Given the description of an element on the screen output the (x, y) to click on. 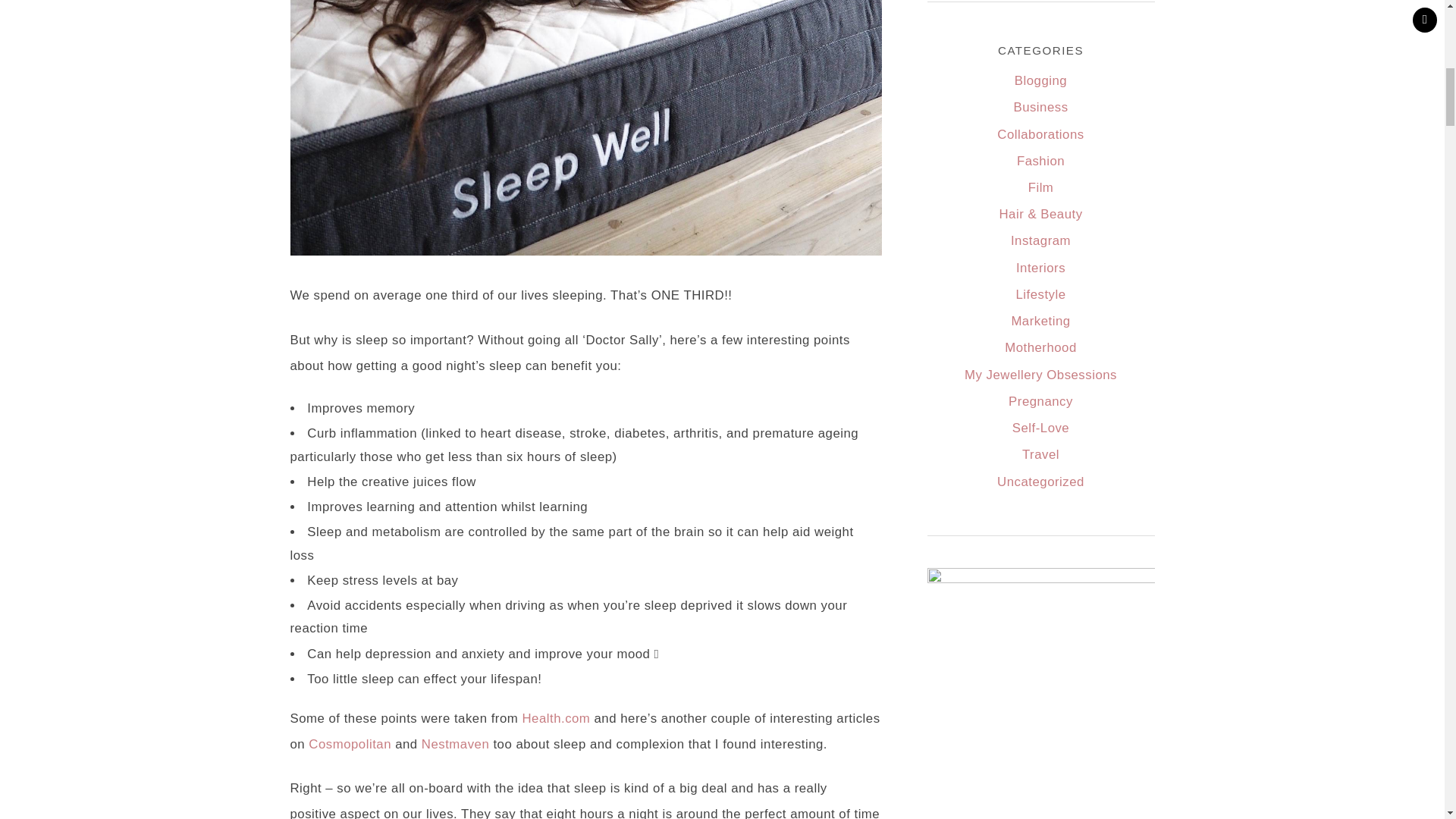
Cosmopolitan (349, 744)
Nestmaven (455, 744)
Health.com (555, 718)
